Given the description of an element on the screen output the (x, y) to click on. 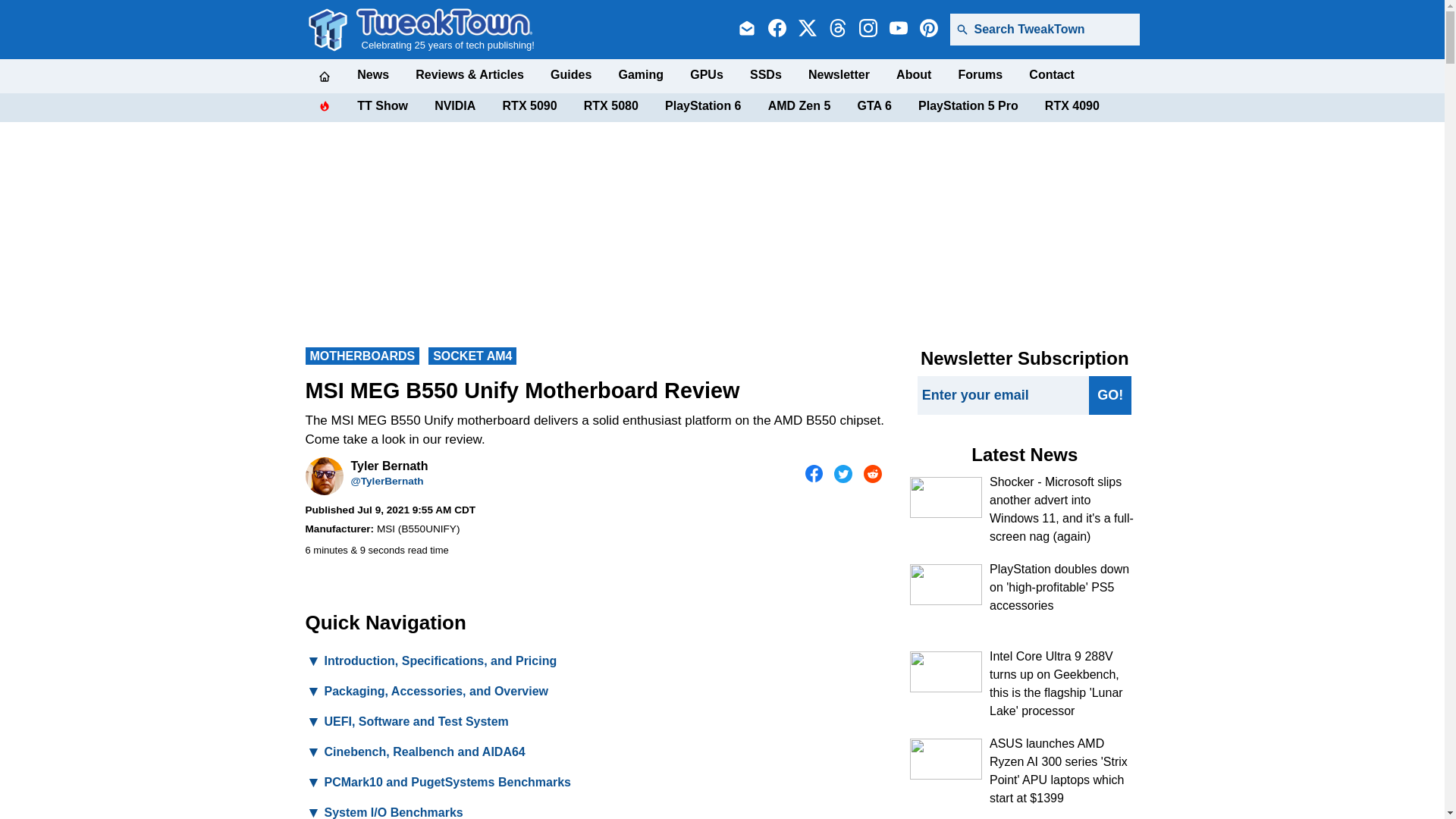
Share on Facebook (814, 474)
Share on Twitter (842, 474)
Share on Reddit (871, 474)
GO! (1110, 394)
Celebrating 25 years of tech publishing! (445, 29)
